Given the description of an element on the screen output the (x, y) to click on. 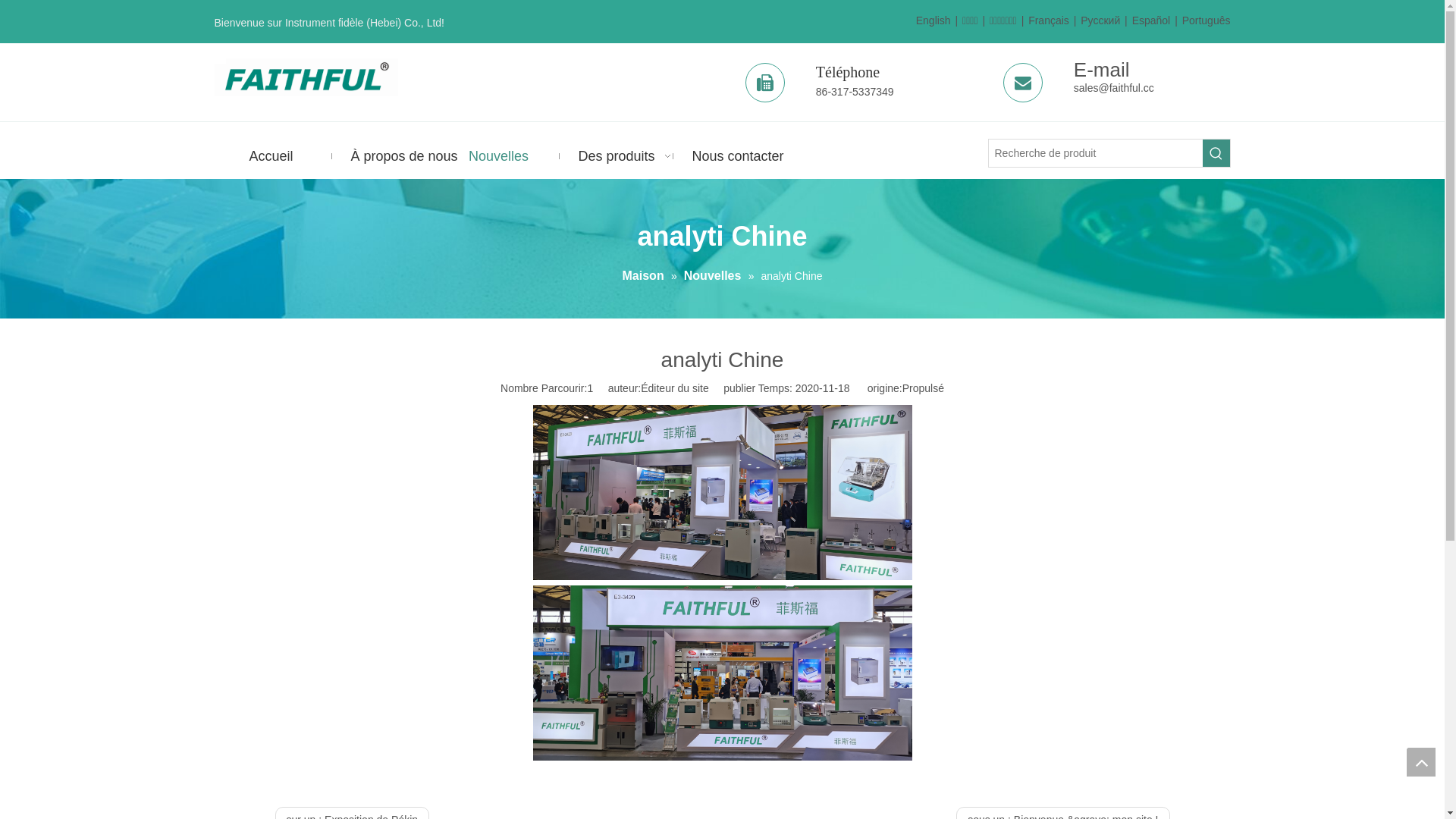
Accueil Element type: text (270, 155)
English Element type: text (933, 21)
Nouvelles Element type: text (498, 155)
top Element type: text (1420, 761)
sales@faithful.cc Element type: text (1113, 87)
Maison Element type: text (645, 275)
Des produits   Element type: text (611, 155)
Nous contacter Element type: text (725, 155)
Nouvelles Element type: text (714, 275)
